Given the description of an element on the screen output the (x, y) to click on. 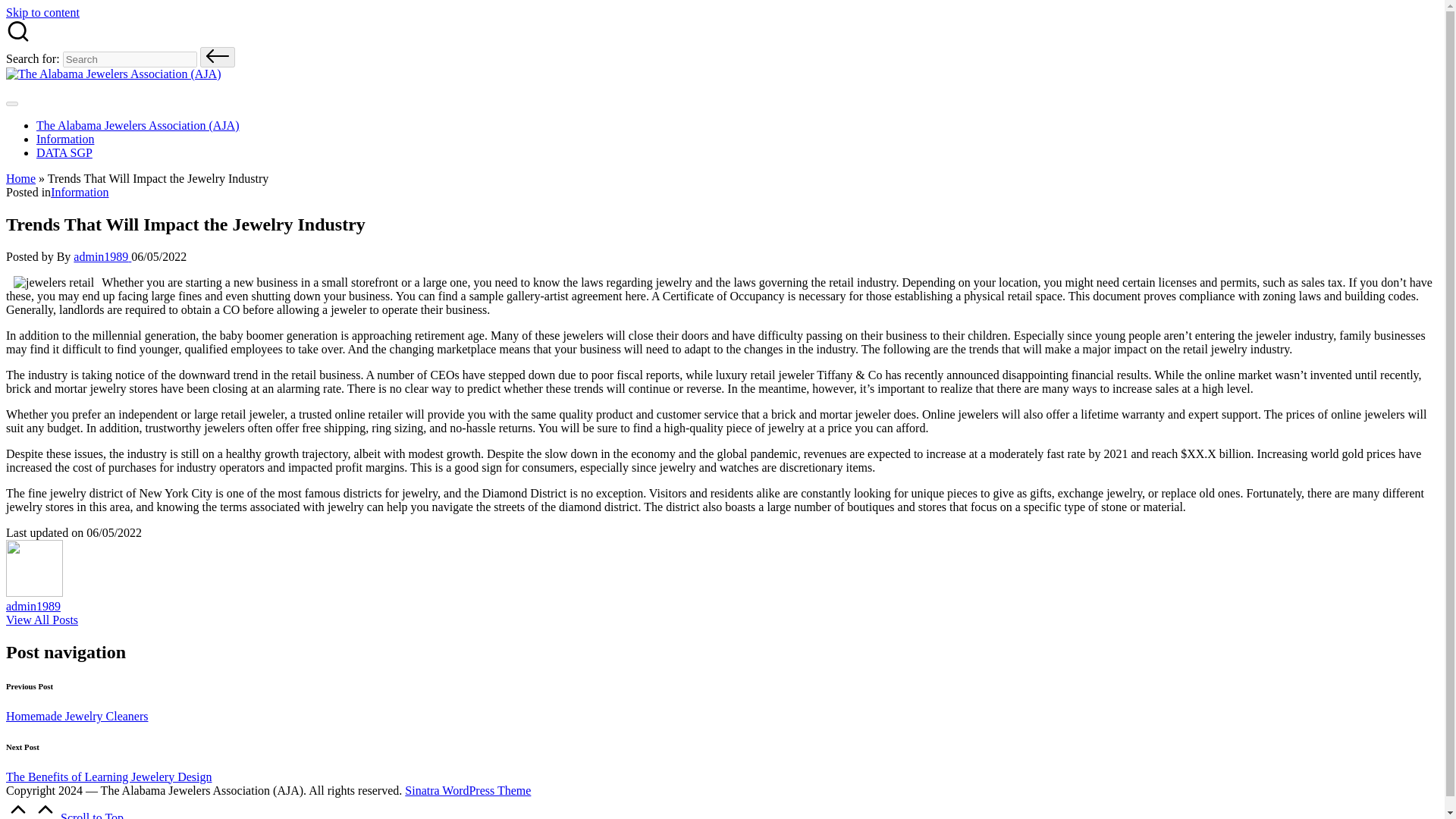
View All Posts (41, 619)
View all posts by admin1989 (102, 256)
admin1989 (102, 256)
Home (19, 178)
admin1989 (33, 605)
Sinatra WordPress Theme (467, 789)
Information (65, 138)
Information (78, 192)
Skip to content (42, 11)
DATA SGP (64, 152)
